Given the description of an element on the screen output the (x, y) to click on. 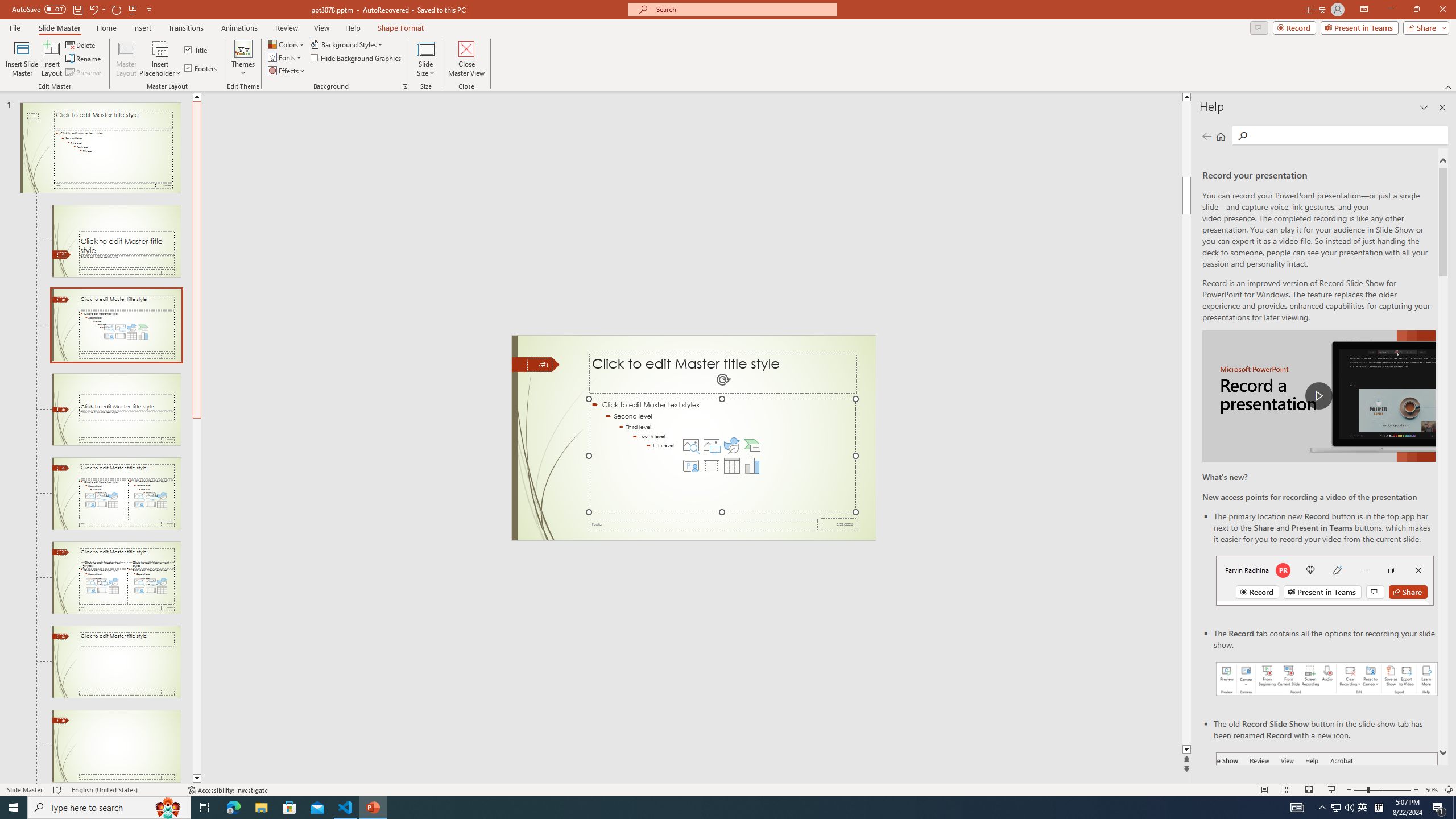
Search (1241, 136)
Line down (197, 778)
Slide Size (425, 58)
Close Master View (466, 58)
Record your presentations screenshot one (1326, 678)
Slide Number (539, 364)
Class: MsoCommandBar (728, 789)
Shape Format (400, 28)
